Given the description of an element on the screen output the (x, y) to click on. 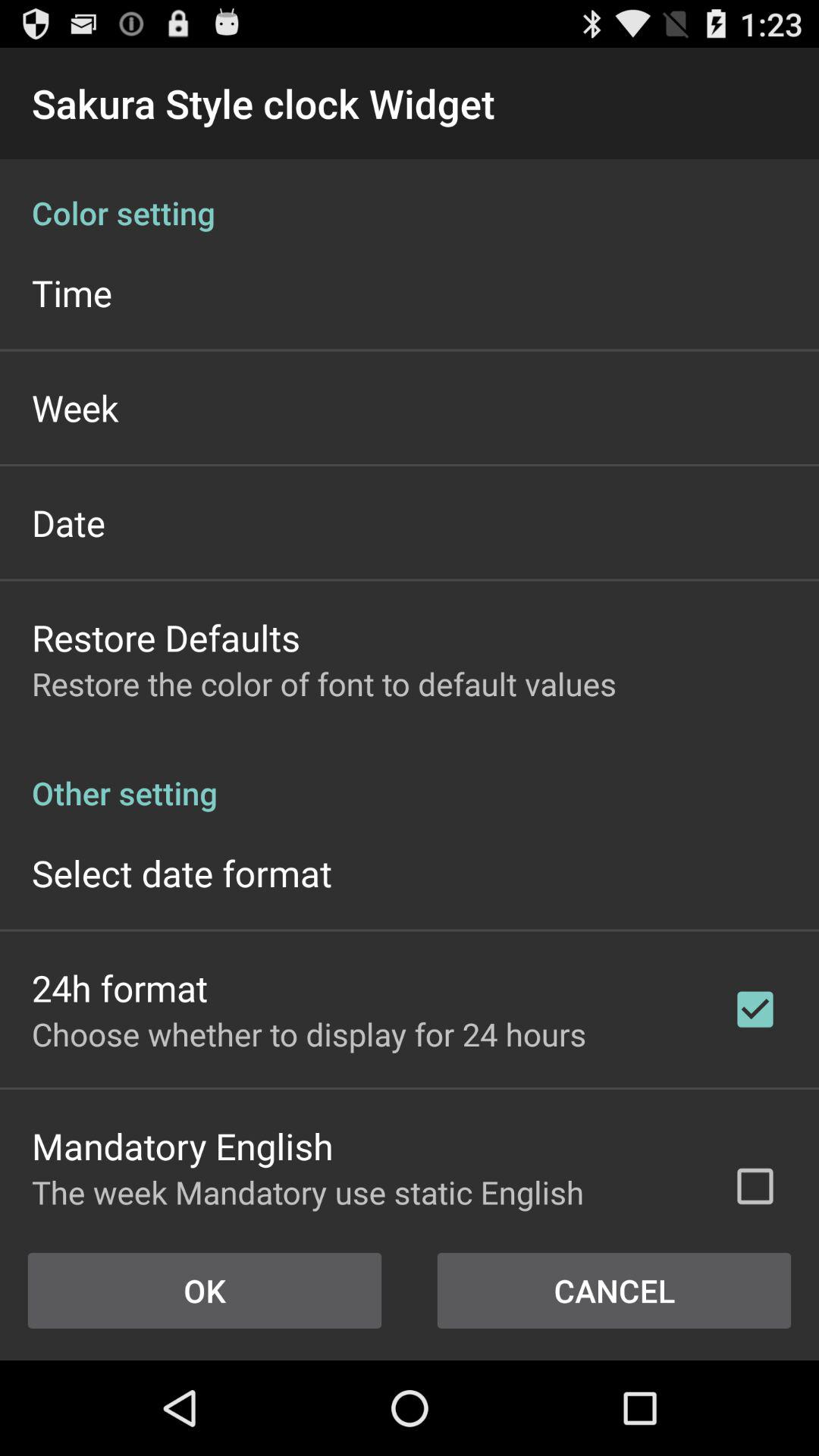
turn on the select date format app (181, 872)
